Given the description of an element on the screen output the (x, y) to click on. 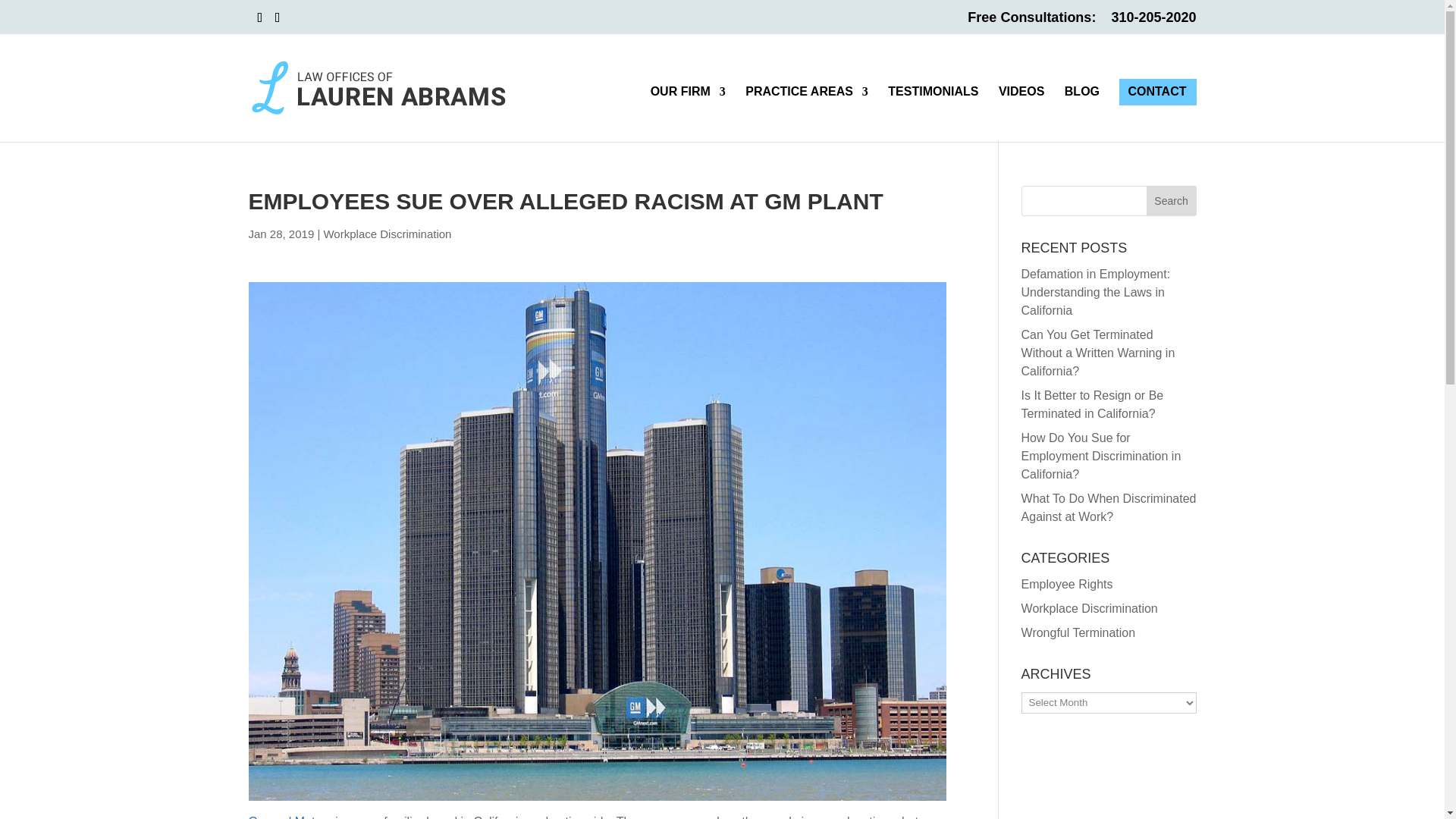
Employment Law Practice Areas (806, 113)
What To Do When Discriminated Against at Work? (1109, 507)
Wrongful Termination (1078, 632)
Search (1171, 200)
Search (1171, 200)
Workplace Discrimination (387, 233)
CONTACT (1156, 113)
Free Consultations: (1032, 22)
